Given the description of an element on the screen output the (x, y) to click on. 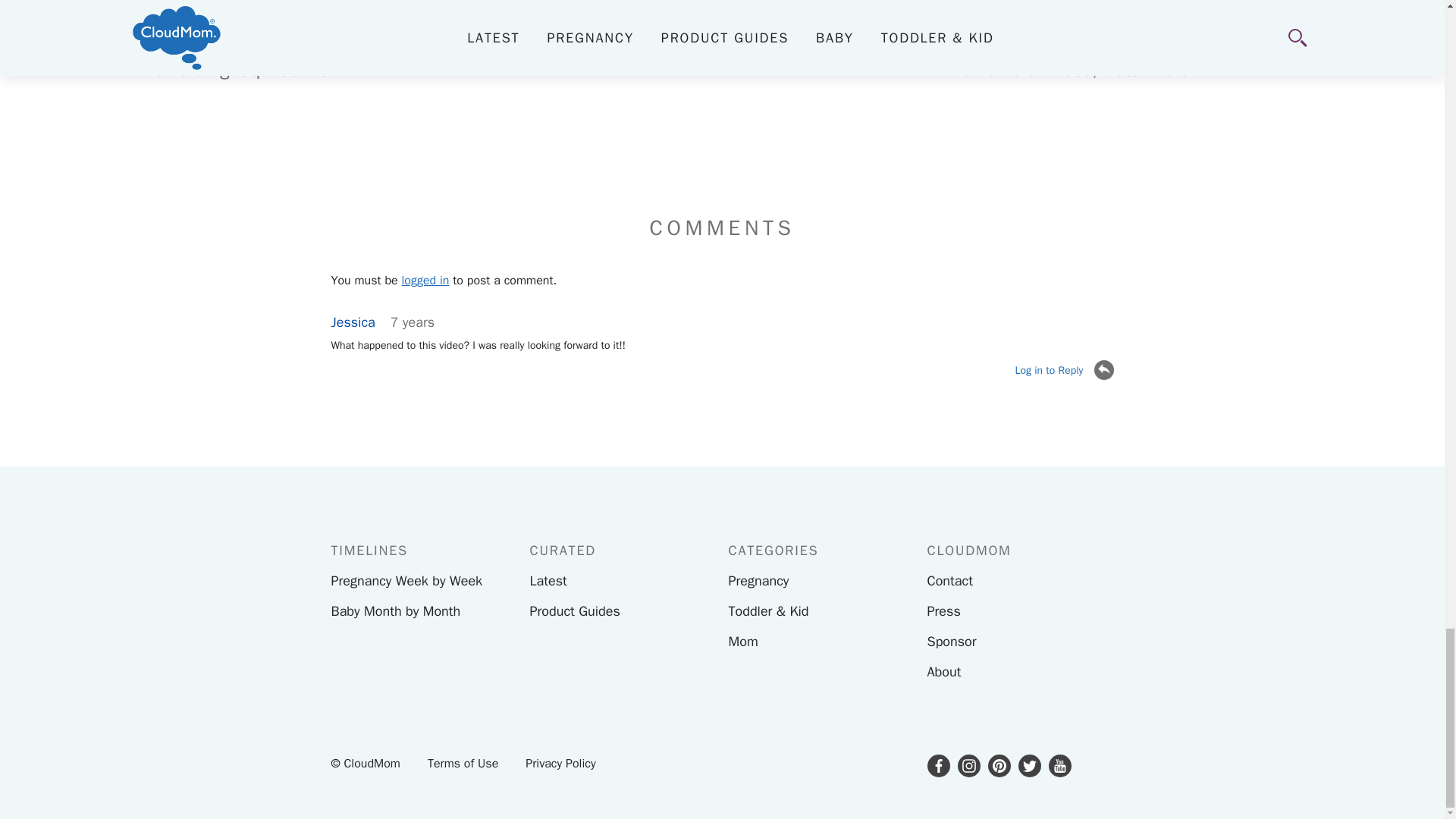
facebook (937, 765)
youtube (1059, 765)
pinterest (998, 765)
instagram (967, 765)
twitter (1029, 765)
